Given the description of an element on the screen output the (x, y) to click on. 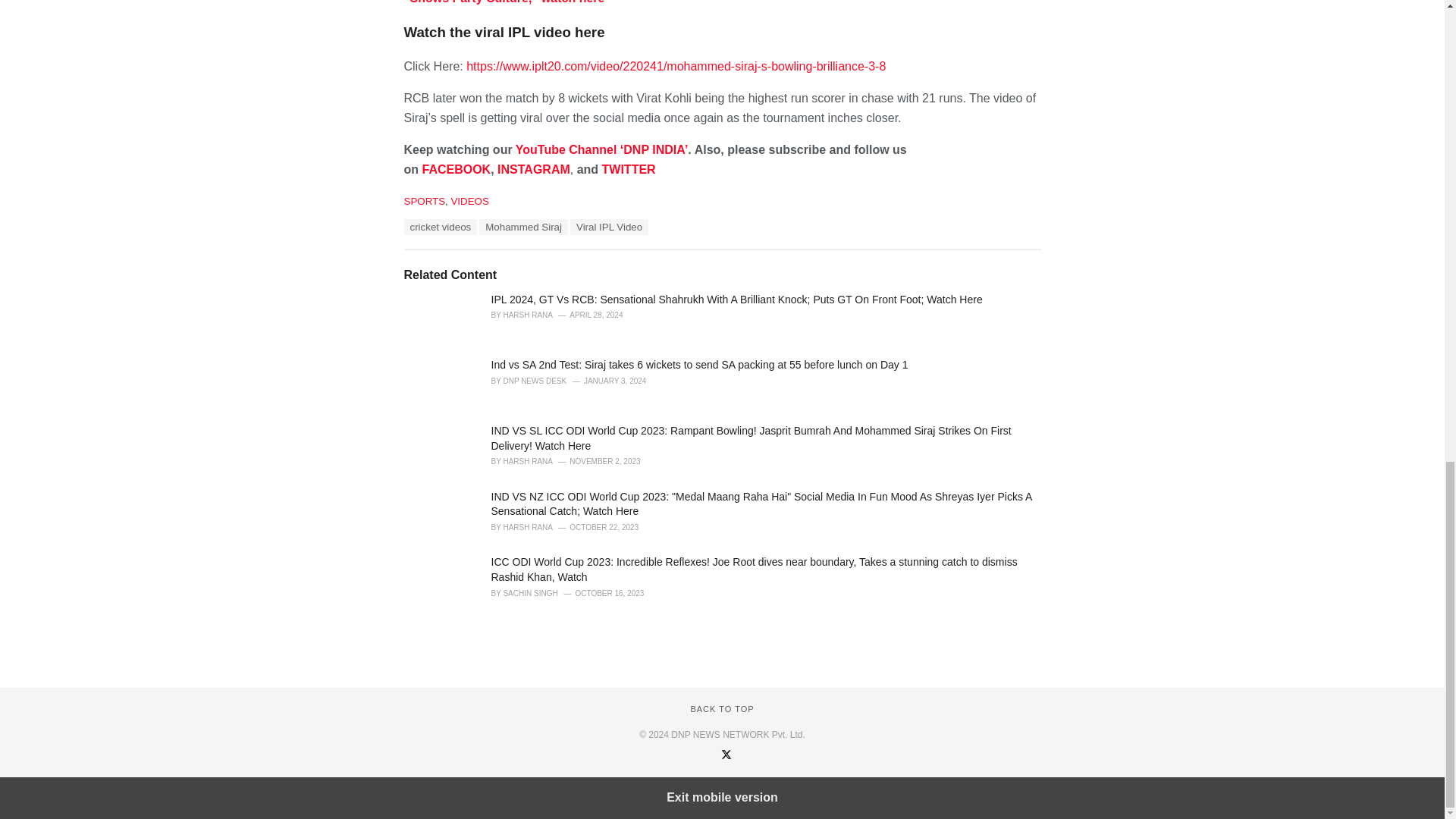
SPORTS (424, 201)
Mohammed Siraj (523, 227)
3rd party ad content (721, 639)
cricket videos (440, 227)
BACK TO TOP (722, 708)
TWITTER (629, 169)
VIDEOS (468, 201)
Viral IPL Video (608, 227)
FACEBOOK (456, 169)
INSTAGRAM (533, 169)
